Given the description of an element on the screen output the (x, y) to click on. 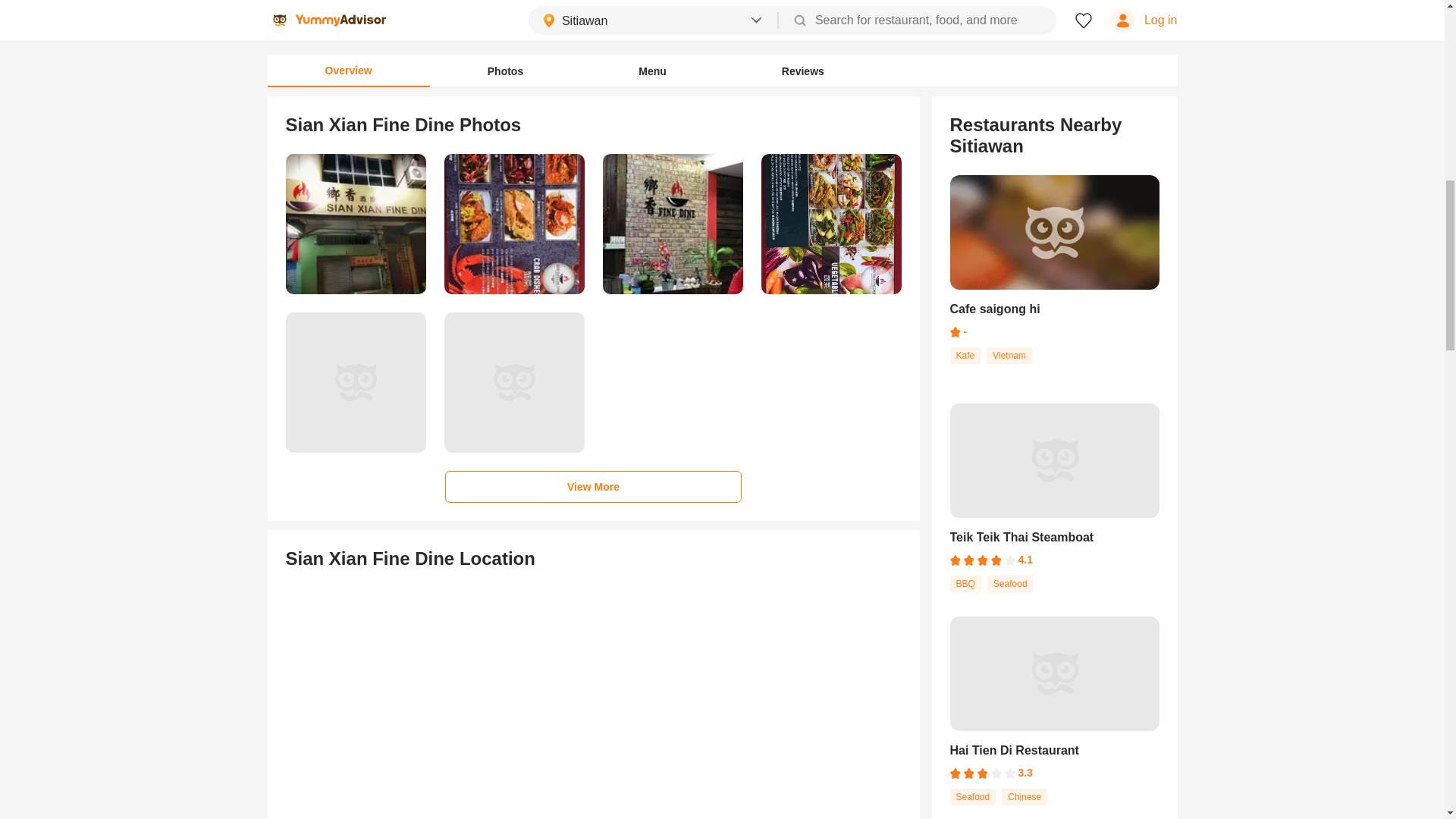
Menu (652, 71)
Reviews (802, 71)
Photos (1053, 713)
View More (504, 71)
